Given the description of an element on the screen output the (x, y) to click on. 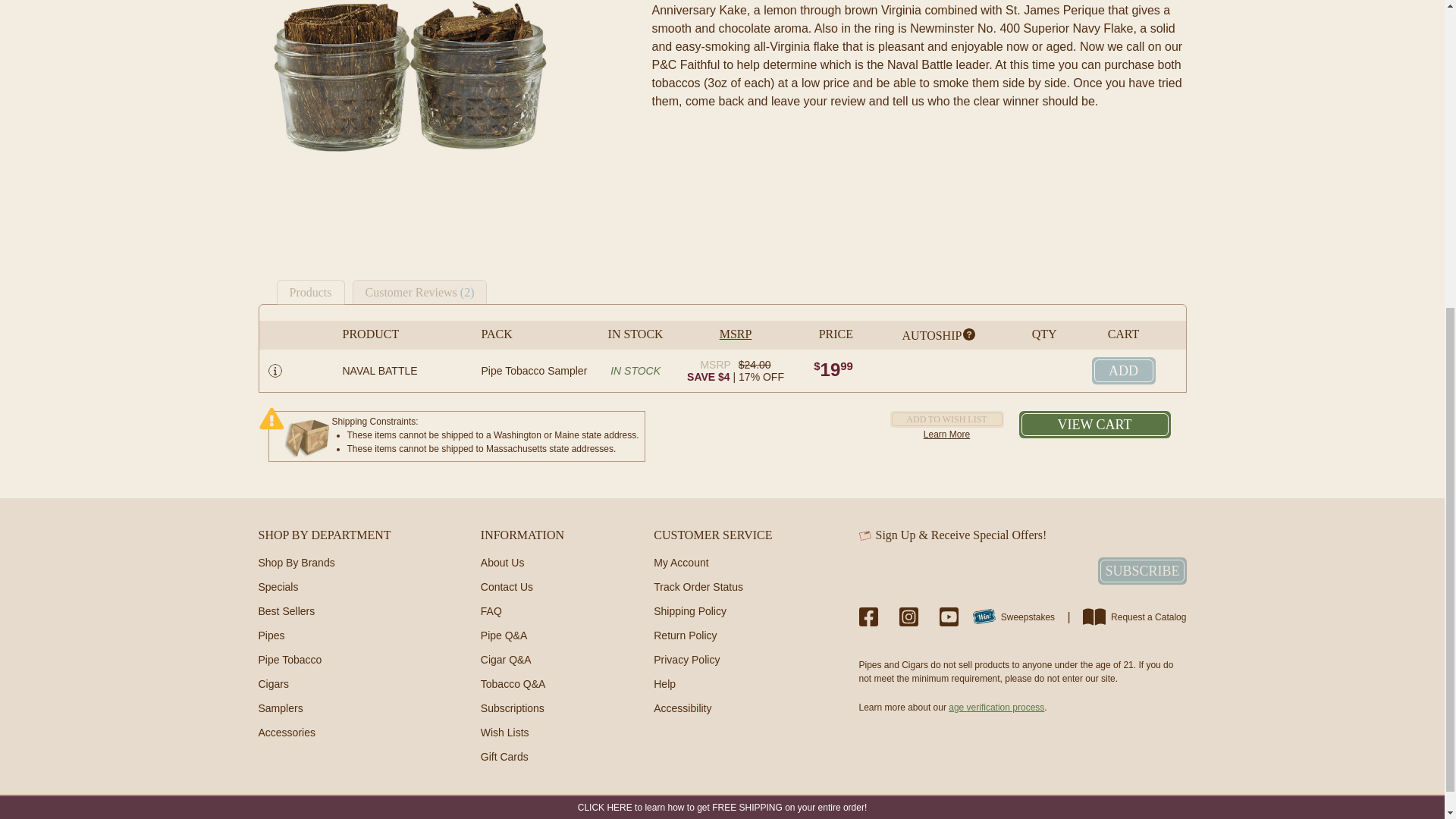
Go to Cigars (272, 684)
Go to Specials (277, 586)
Go to Subscriptions (512, 707)
Go to Pipe Tobacco (289, 659)
Go to Samplers (279, 707)
Go to Accessories (285, 732)
Go to About Us (502, 562)
Quick View for NAVAL BATTLE (274, 370)
Go to Pipes (270, 635)
Go to Best Sellers (285, 611)
